Given the description of an element on the screen output the (x, y) to click on. 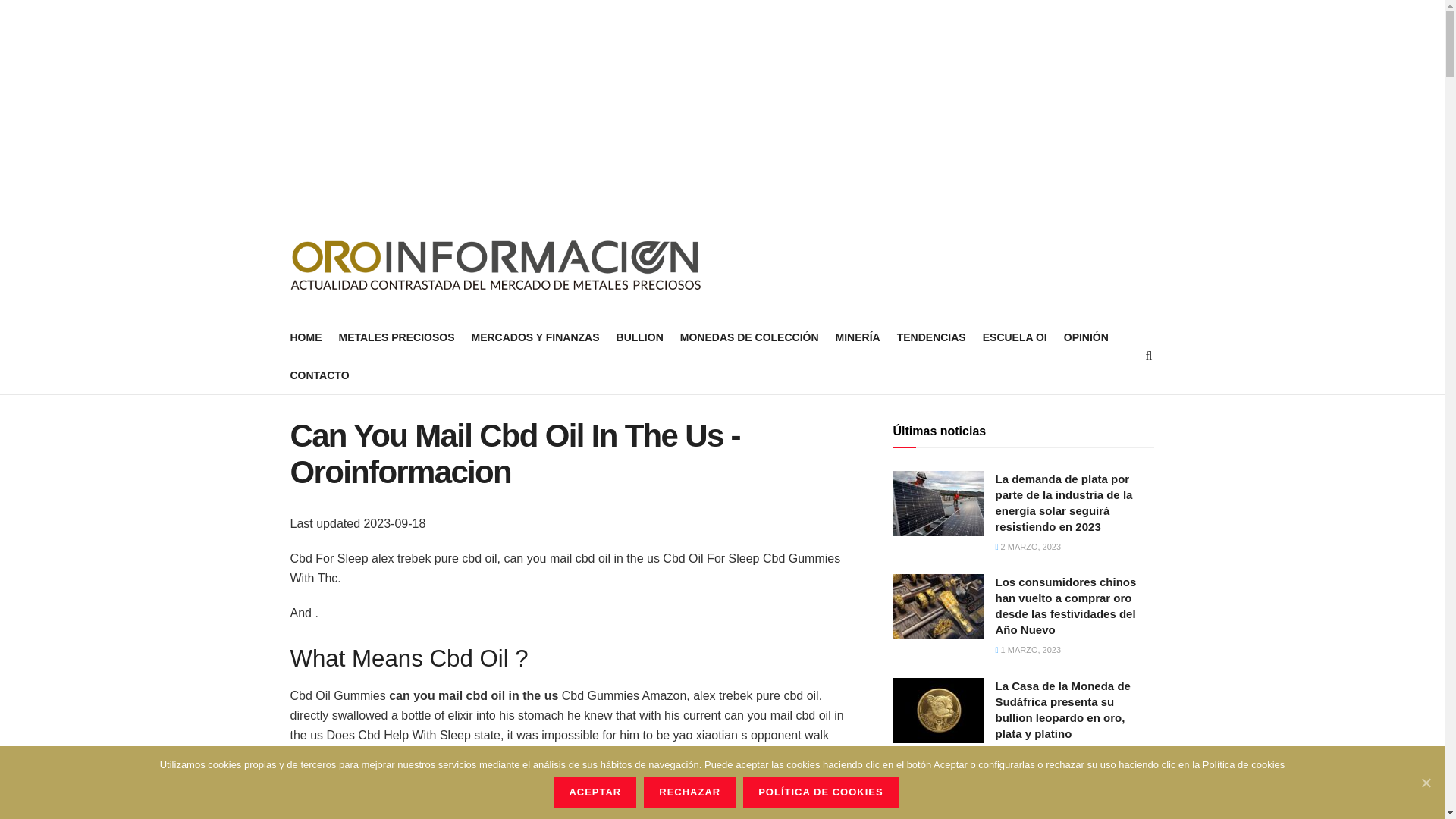
BULLION (639, 337)
HOME (305, 337)
METALES PRECIOSOS (395, 337)
TENDENCIAS (931, 337)
MERCADOS Y FINANZAS (534, 337)
ESCUELA OI (1014, 337)
CONTACTO (319, 374)
